Given the description of an element on the screen output the (x, y) to click on. 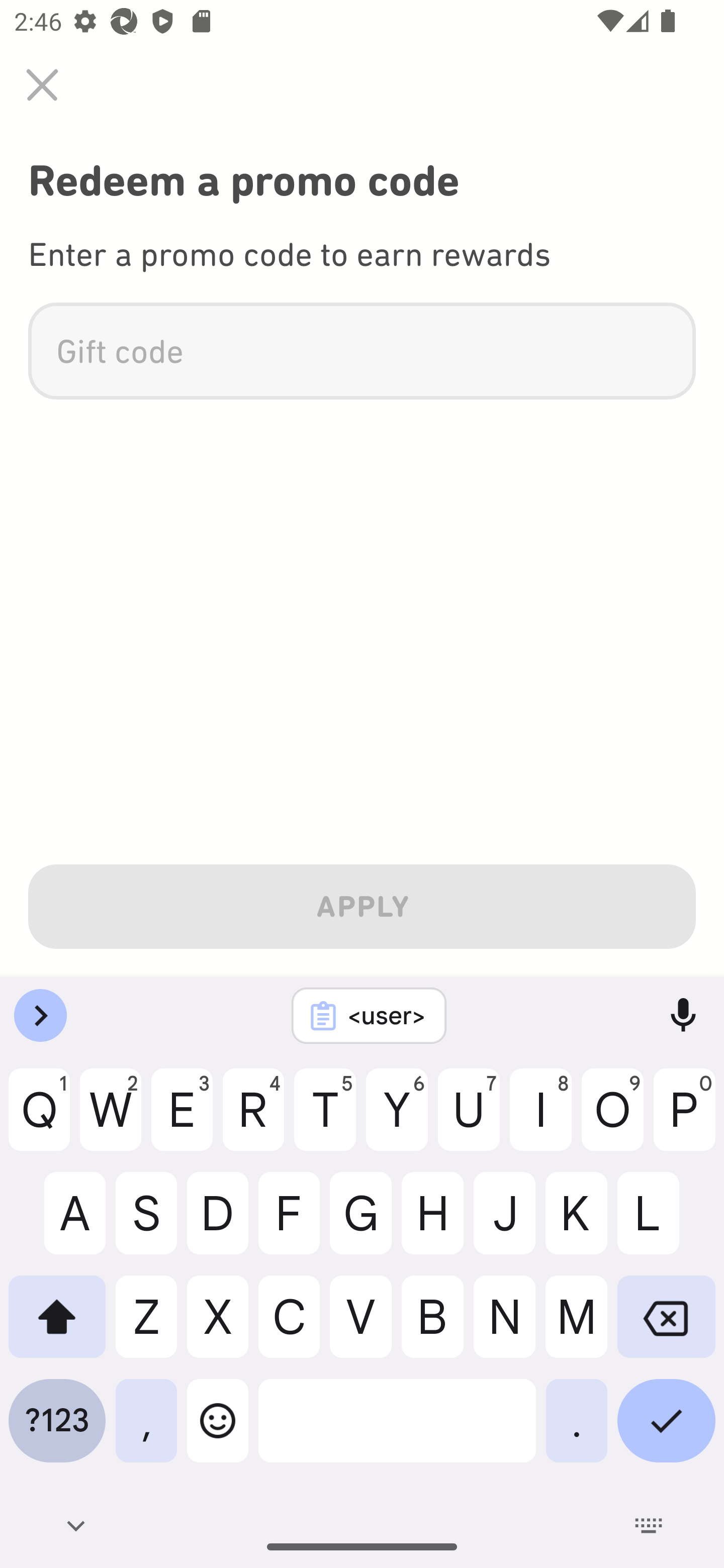
Close Page (41, 84)
Gift code (361, 350)
APPLY (361, 902)
